Given the description of an element on the screen output the (x, y) to click on. 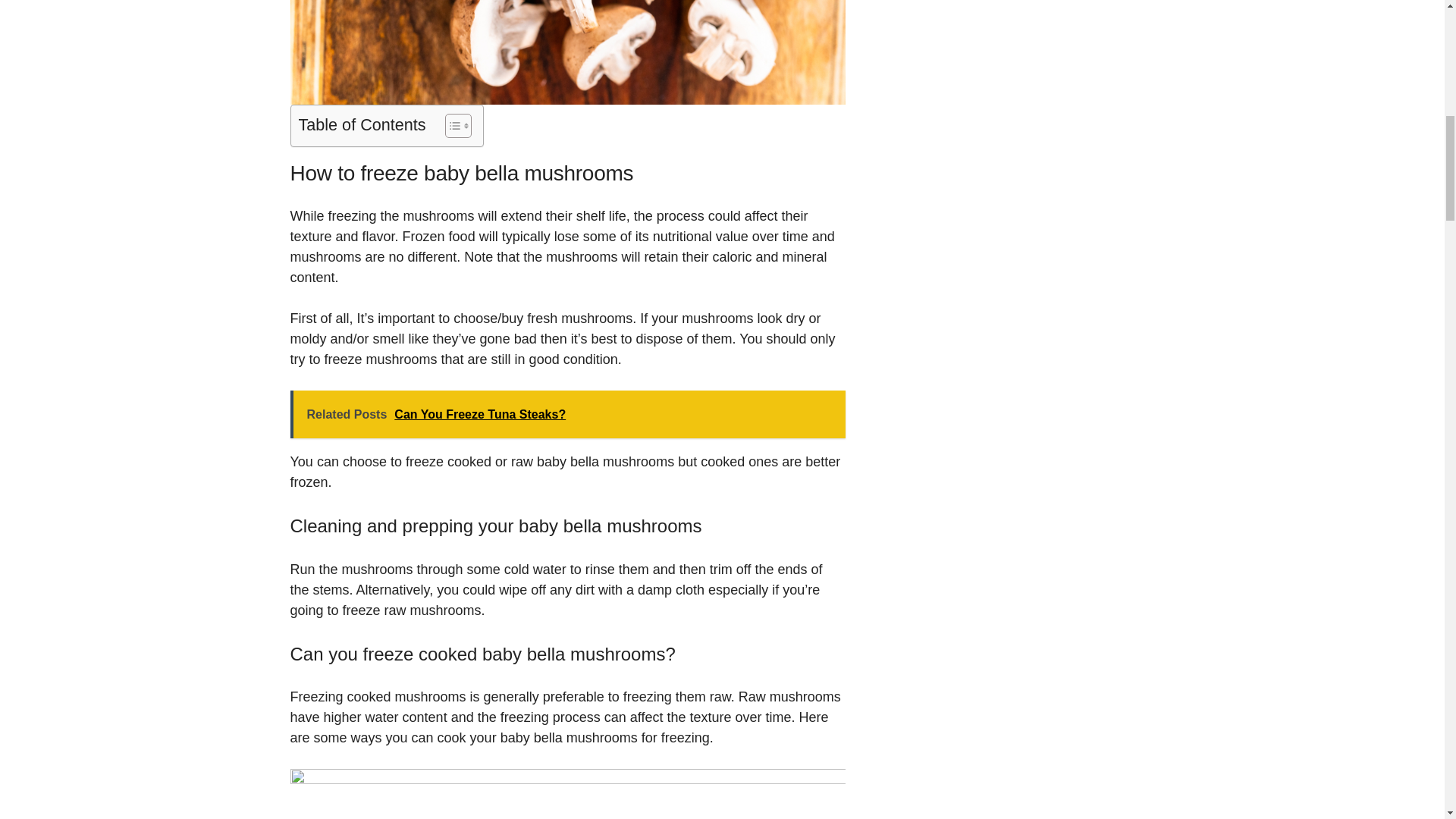
Related Posts  Can You Freeze Tuna Steaks? (566, 414)
